Given the description of an element on the screen output the (x, y) to click on. 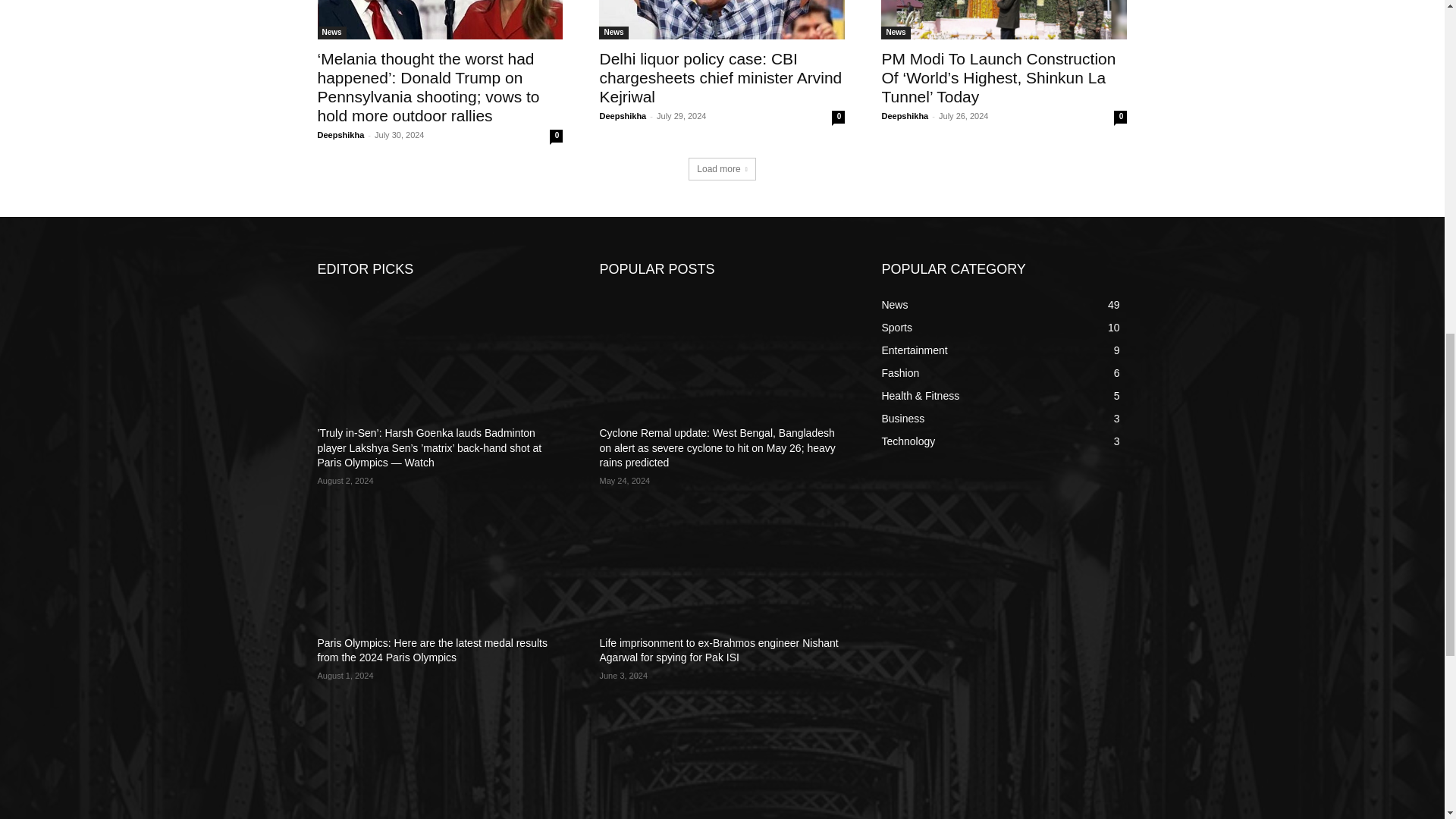
News (331, 32)
